Given the description of an element on the screen output the (x, y) to click on. 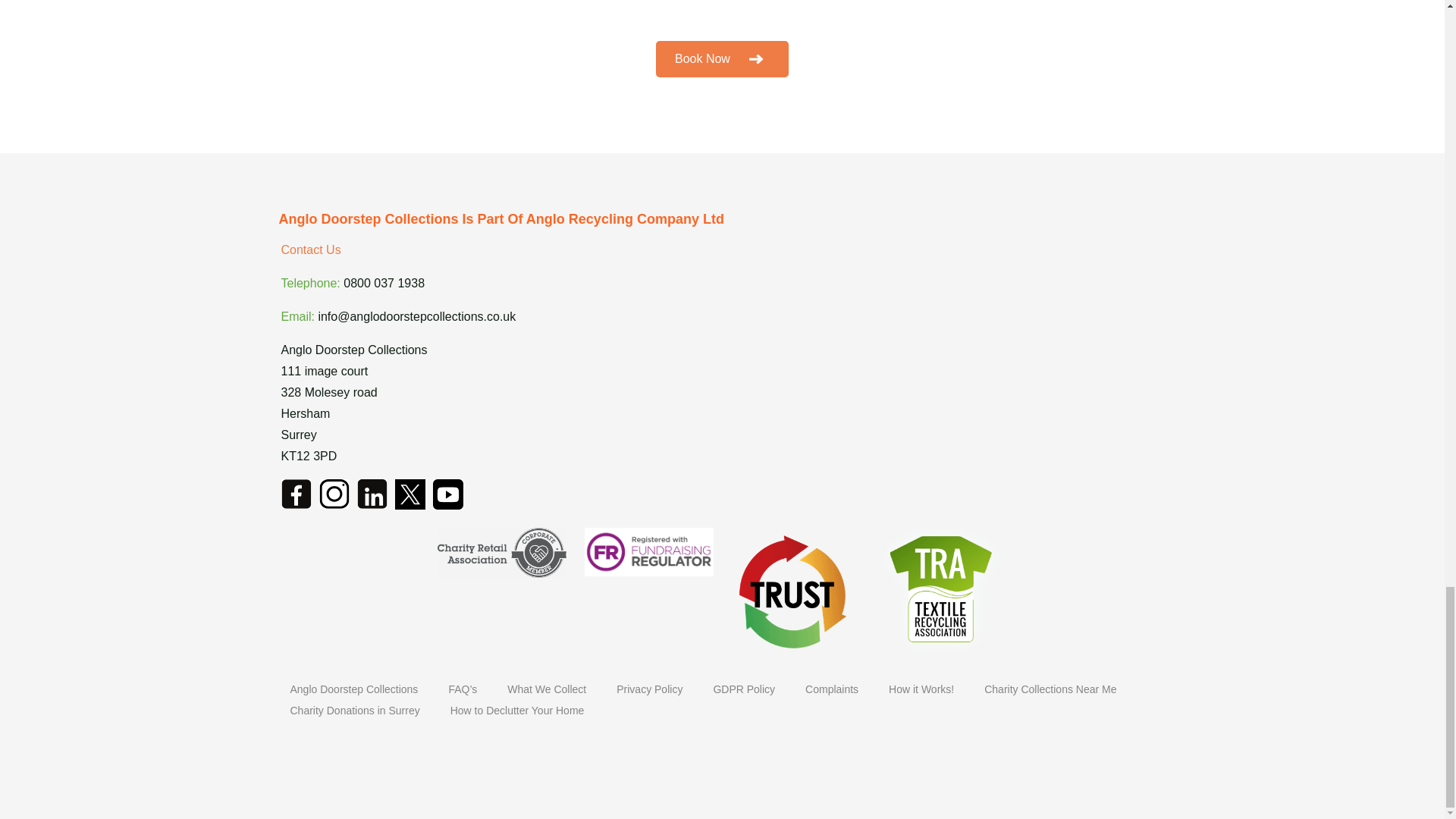
0800 037 1938 (384, 282)
Privacy Policy (648, 689)
Book Now (722, 58)
Charity Donations in Surrey (354, 710)
GDPR Policy (743, 689)
Anglo Doorstep Collections (353, 689)
How to Declutter Your Home (517, 710)
How it Works! (920, 689)
Complaints (832, 689)
What We Collect (546, 689)
Charity Collections Near Me (1050, 689)
